Given the description of an element on the screen output the (x, y) to click on. 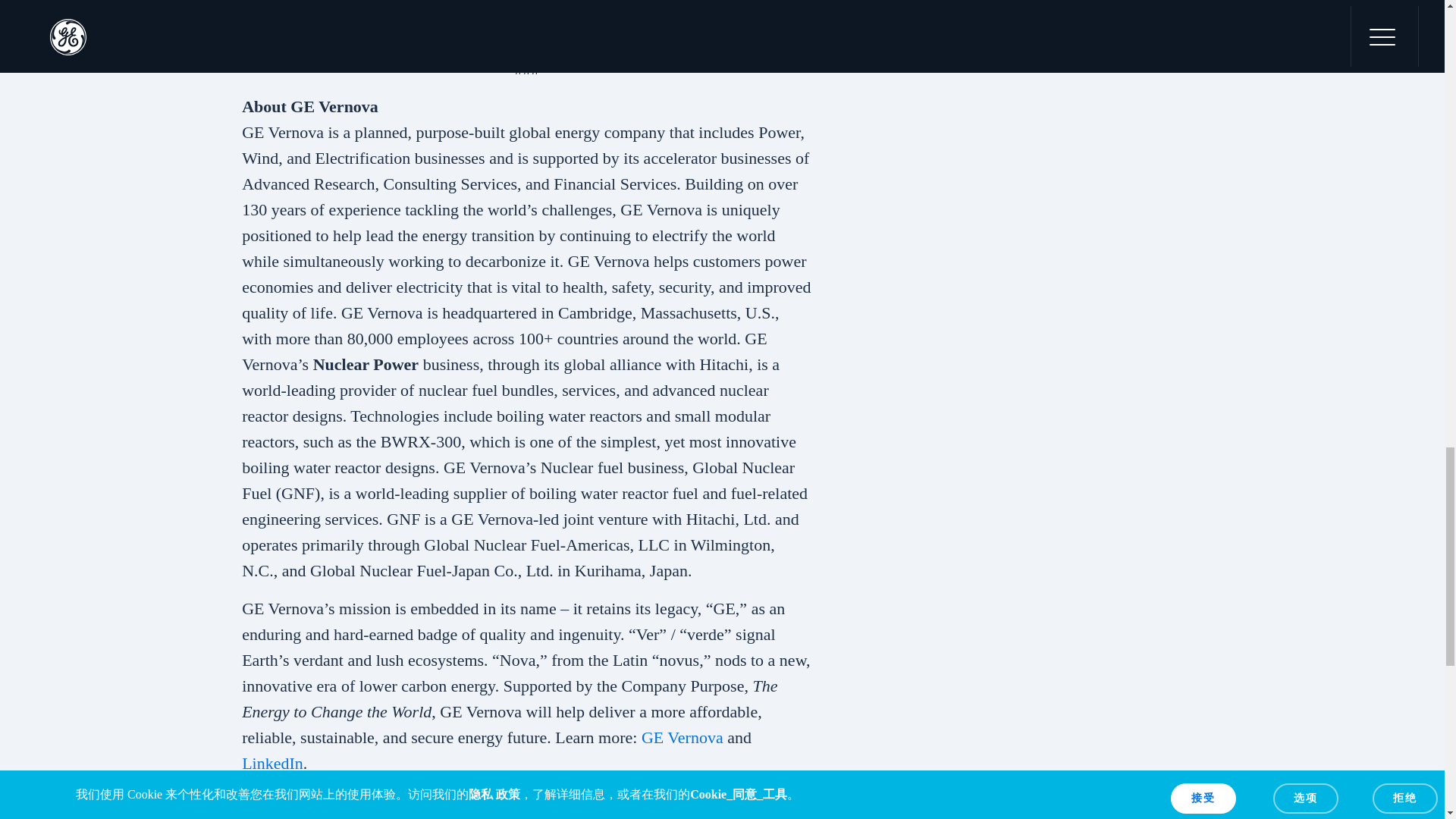
GE Vernova (682, 737)
LinkedIn (271, 763)
